Given the description of an element on the screen output the (x, y) to click on. 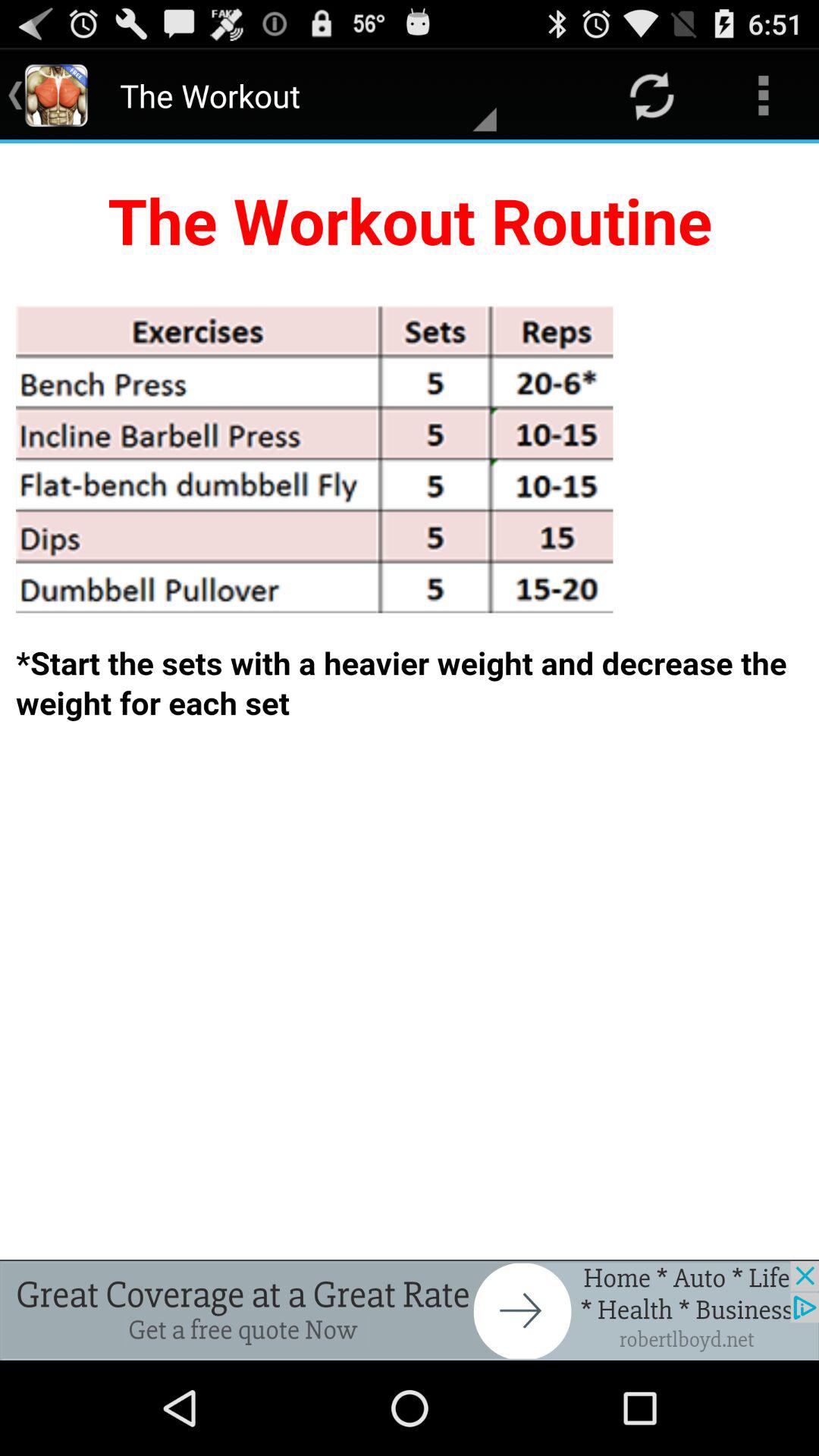
know about the advertisement (409, 1310)
